Given the description of an element on the screen output the (x, y) to click on. 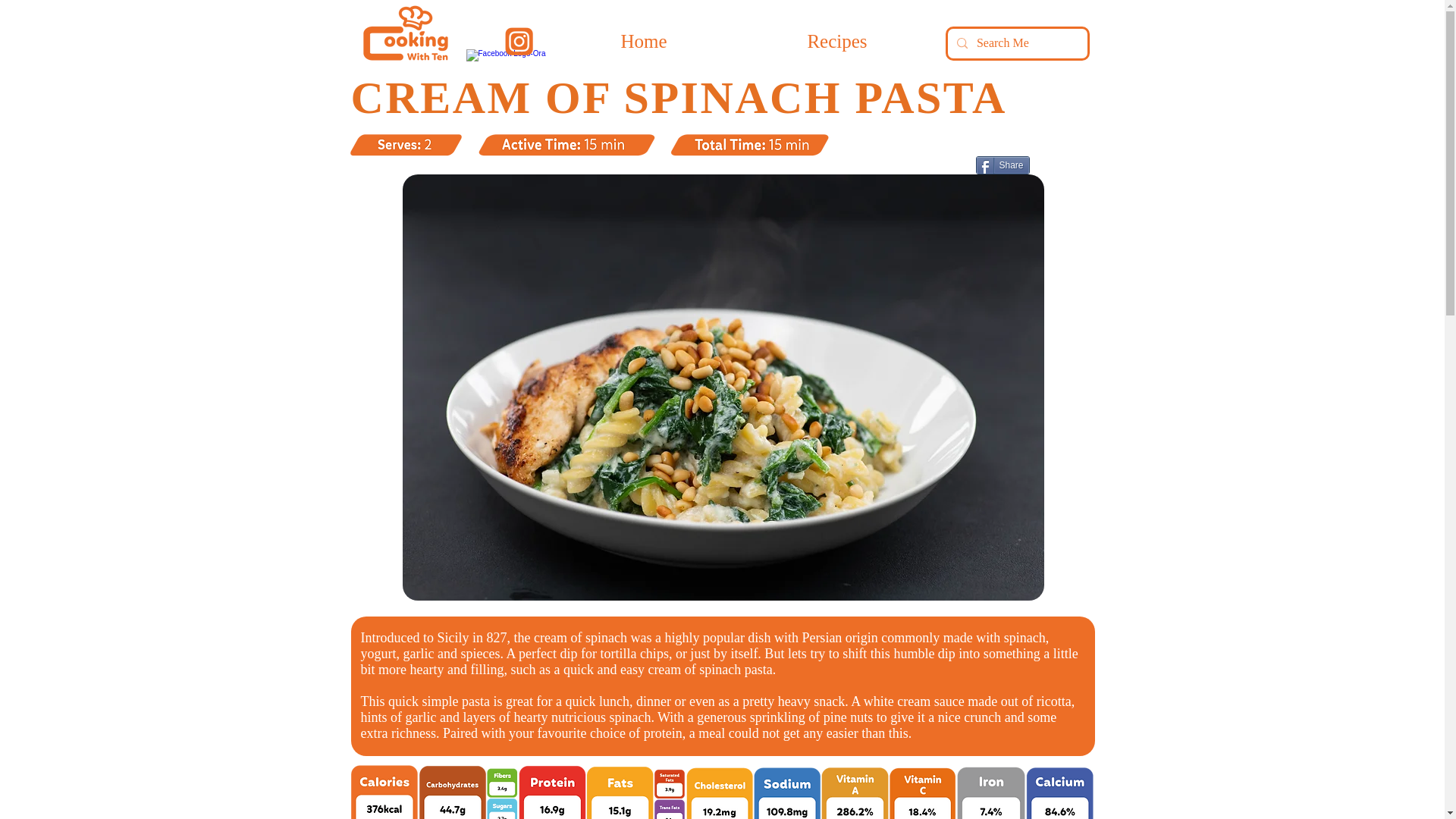
Recipes (836, 41)
Pin to Pinterest (950, 166)
Share (1002, 165)
Share (1002, 165)
Home (643, 41)
